Given the description of an element on the screen output the (x, y) to click on. 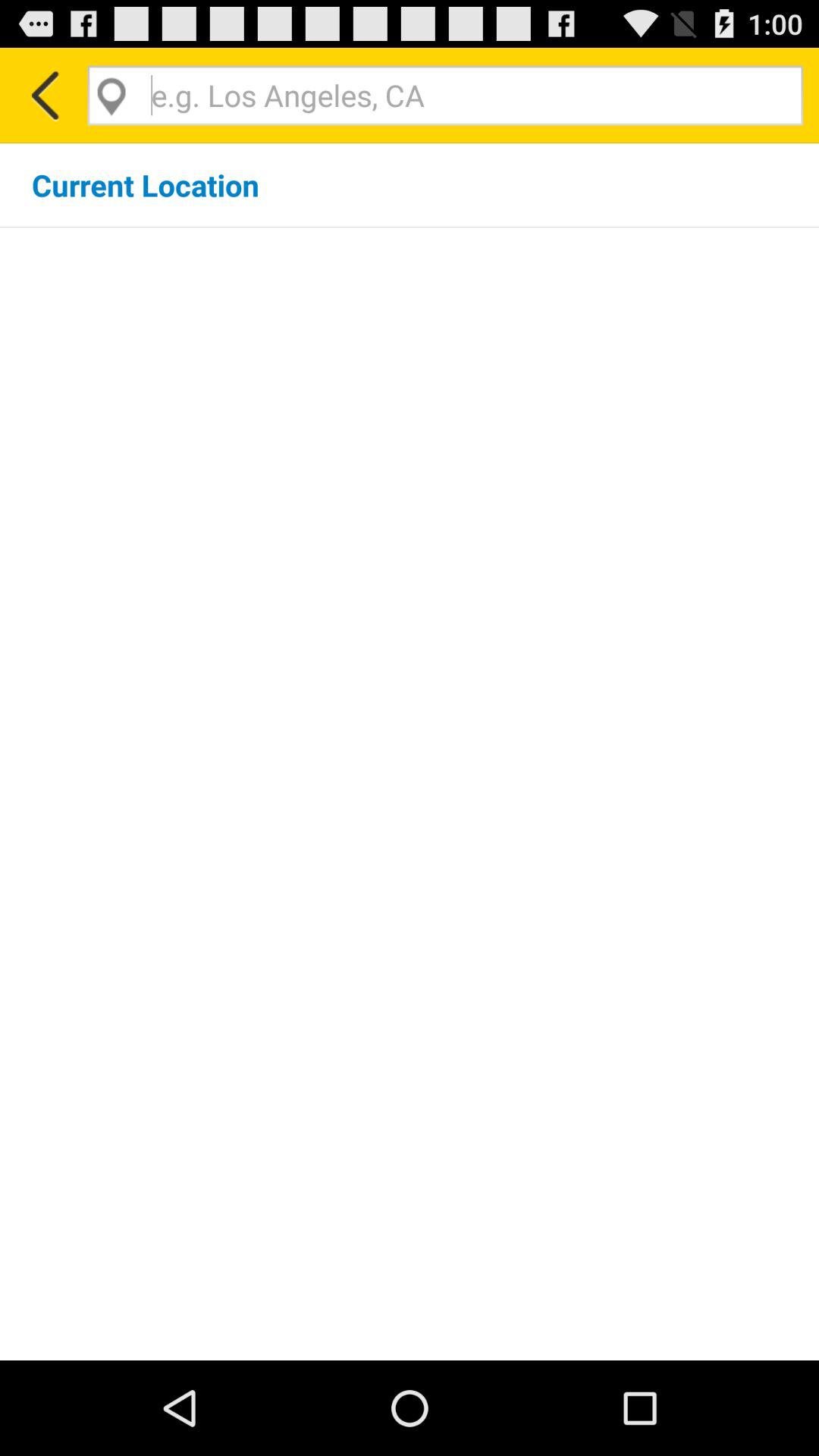
click the current location icon (145, 184)
